Given the description of an element on the screen output the (x, y) to click on. 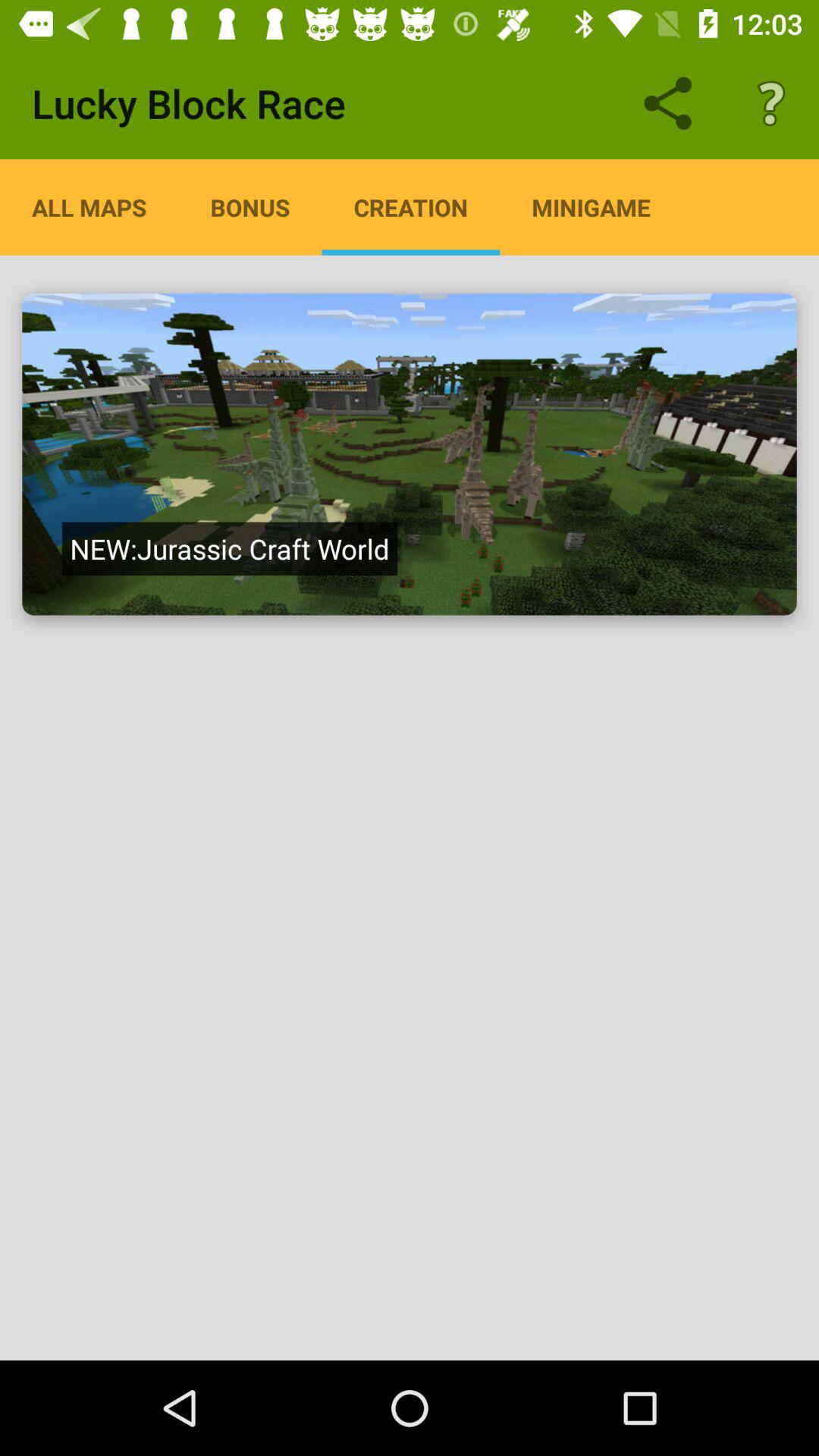
turn off the app to the left of the bonus app (89, 207)
